Given the description of an element on the screen output the (x, y) to click on. 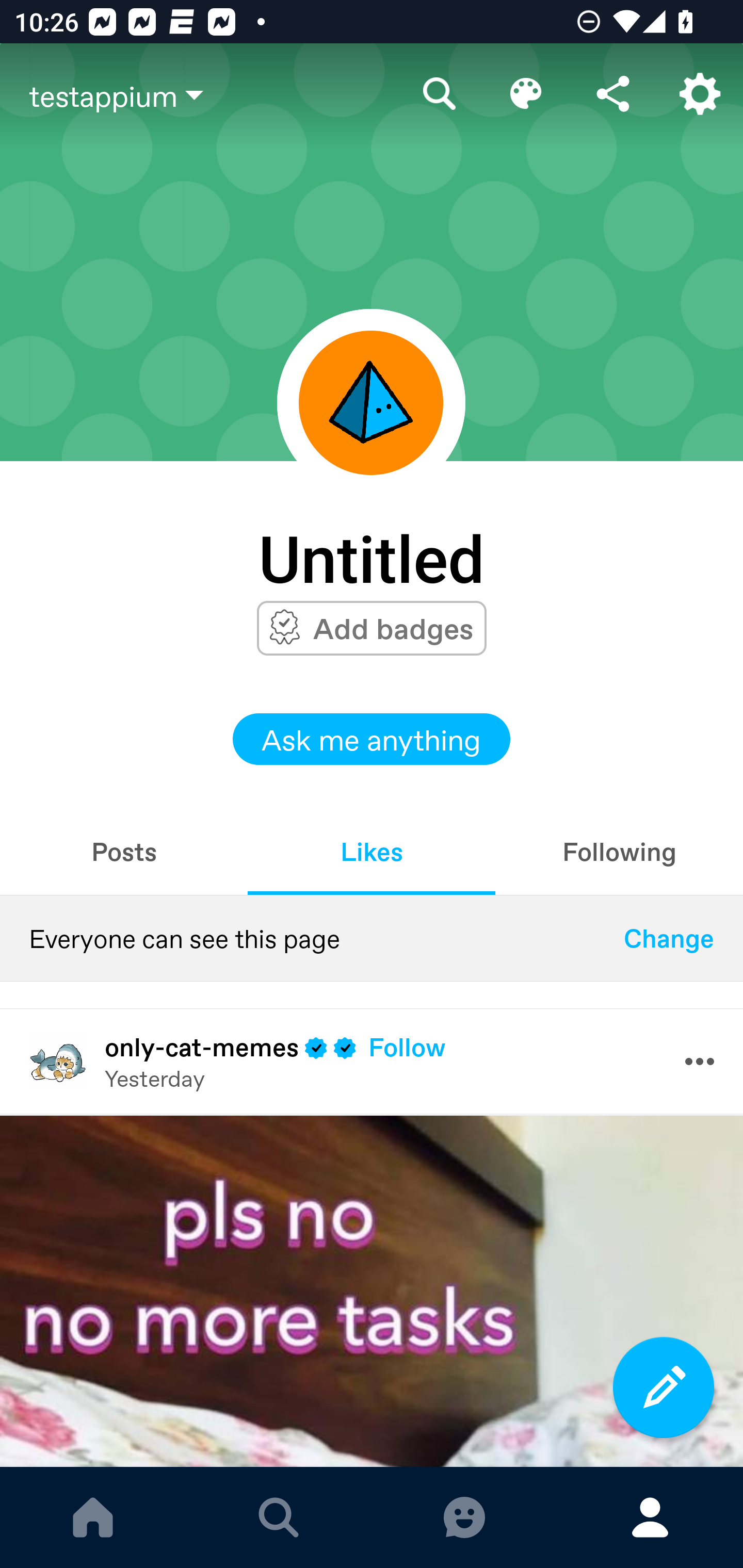
testappium (212, 95)
Search blog (439, 93)
Edit (525, 93)
Share (612, 93)
Account (699, 93)
Avatar frame (371, 402)
Add badges (393, 627)
Ask me anything (371, 739)
Posts (123, 851)
Following (619, 851)
Change (669, 938)
Follow (406, 1046)
Compose a new post (663, 1387)
DASHBOARD (92, 1517)
EXPLORE (278, 1517)
MESSAGES (464, 1517)
ACCOUNT (650, 1517)
